Given the description of an element on the screen output the (x, y) to click on. 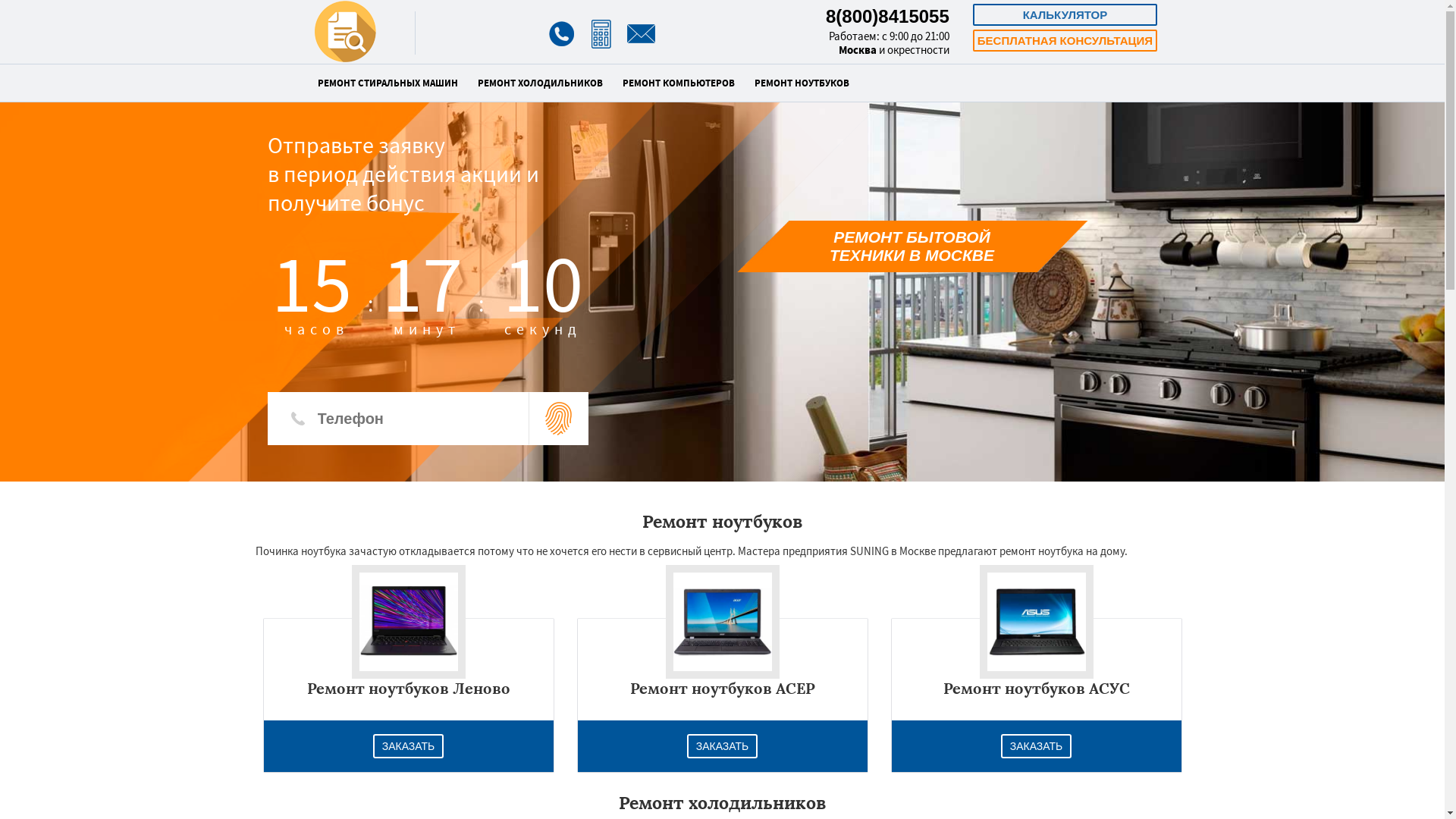
8(800)8415055 Element type: text (887, 16)
